Given the description of an element on the screen output the (x, y) to click on. 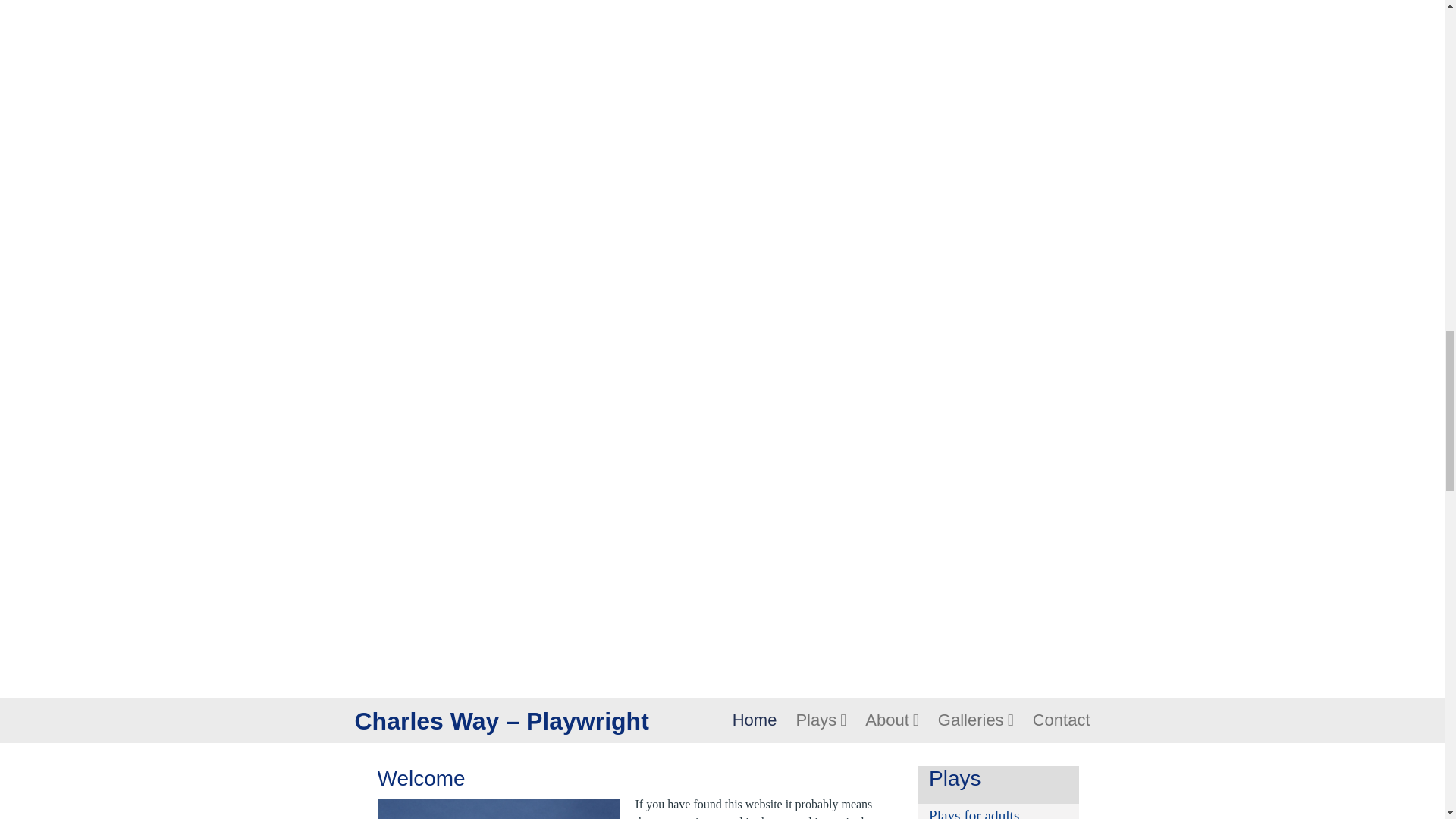
Plays (819, 719)
Contact (1061, 719)
Plays for adults (973, 813)
Galleries (975, 719)
Home (754, 719)
About (891, 719)
Plays for adults (973, 813)
